Given the description of an element on the screen output the (x, y) to click on. 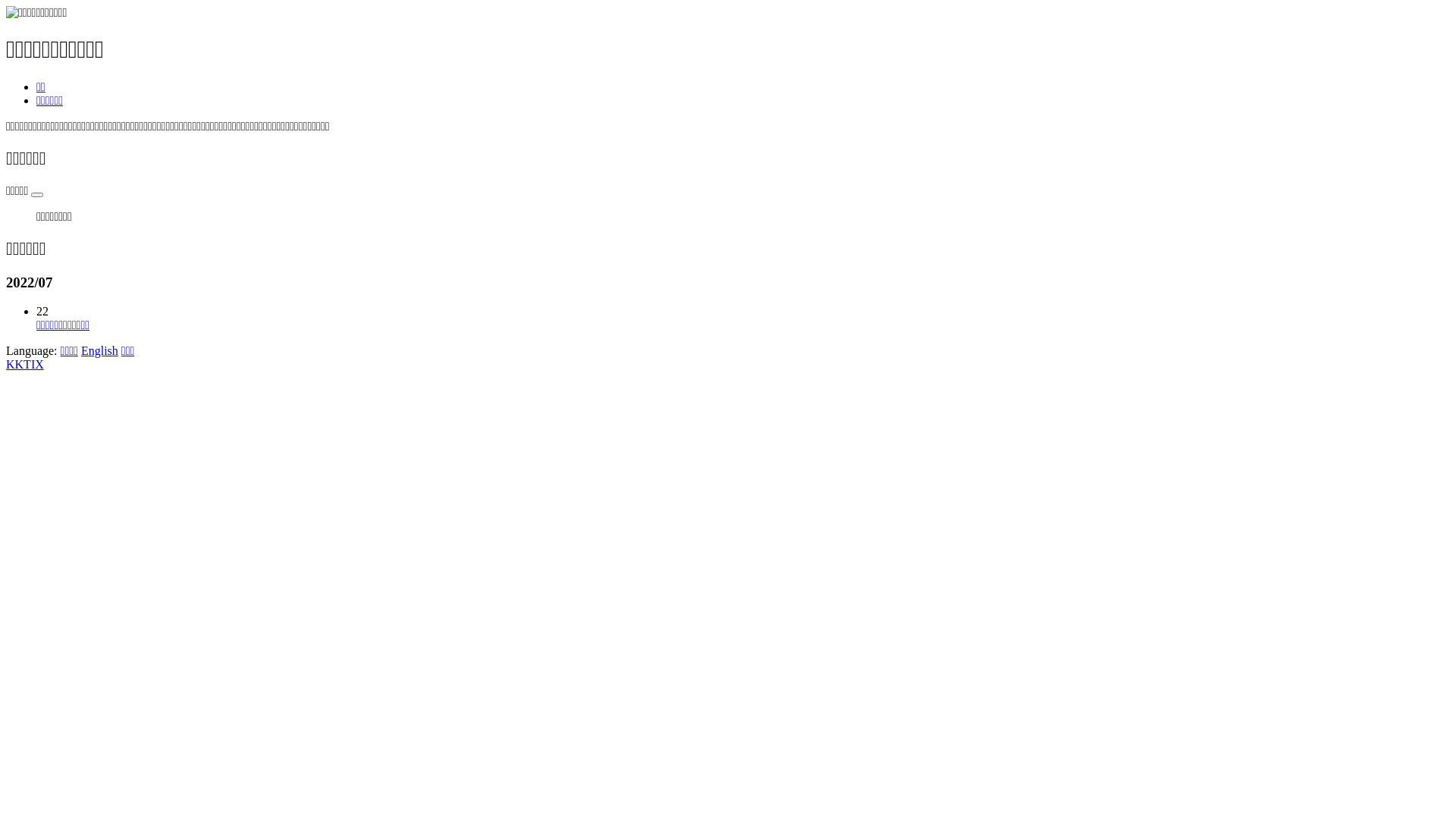
English Element type: text (99, 350)
KKTIX Element type: text (24, 363)
